Given the description of an element on the screen output the (x, y) to click on. 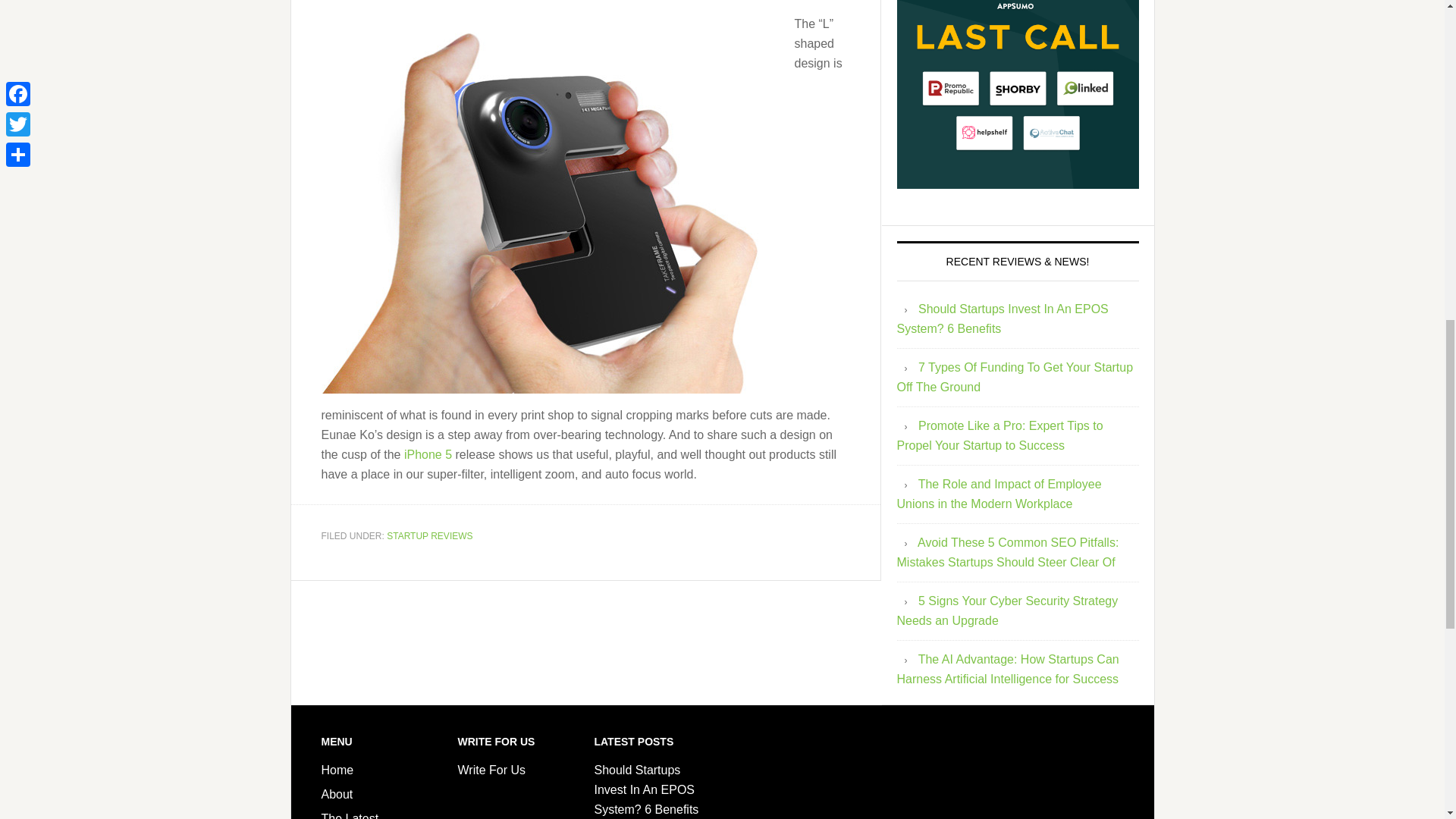
STARTUP REVIEWS (429, 535)
The Latest (349, 815)
Should Startups Invest In An EPOS System? 6 Benefits (646, 789)
About (337, 793)
iPhone 5 (427, 453)
5 Signs Your Cyber Security Strategy Needs an Upgrade (1007, 610)
